Given the description of an element on the screen output the (x, y) to click on. 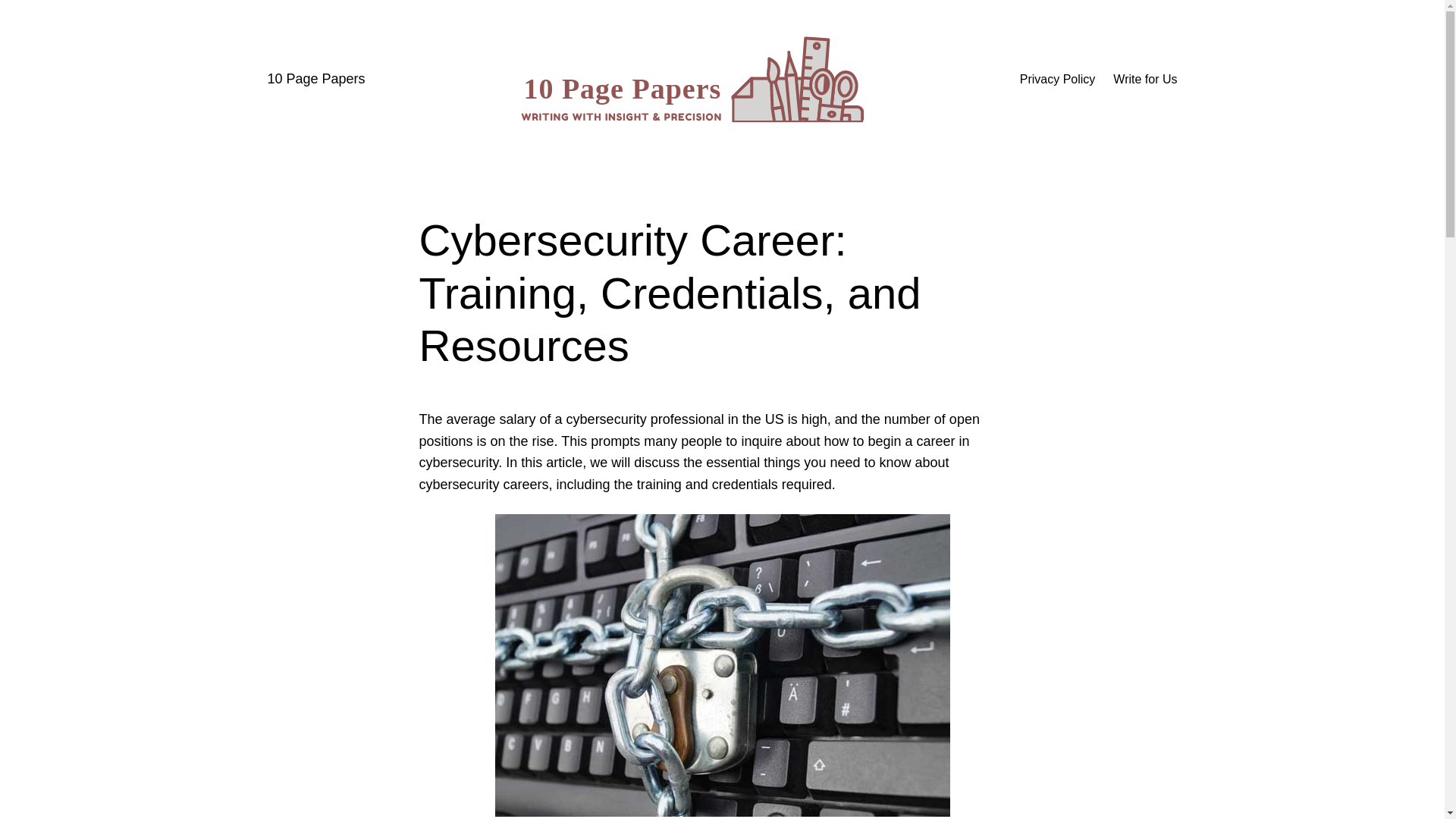
10 Page Papers Element type: text (315, 78)
Write for Us Element type: text (1144, 79)
Privacy Policy Element type: text (1057, 79)
